Given the description of an element on the screen output the (x, y) to click on. 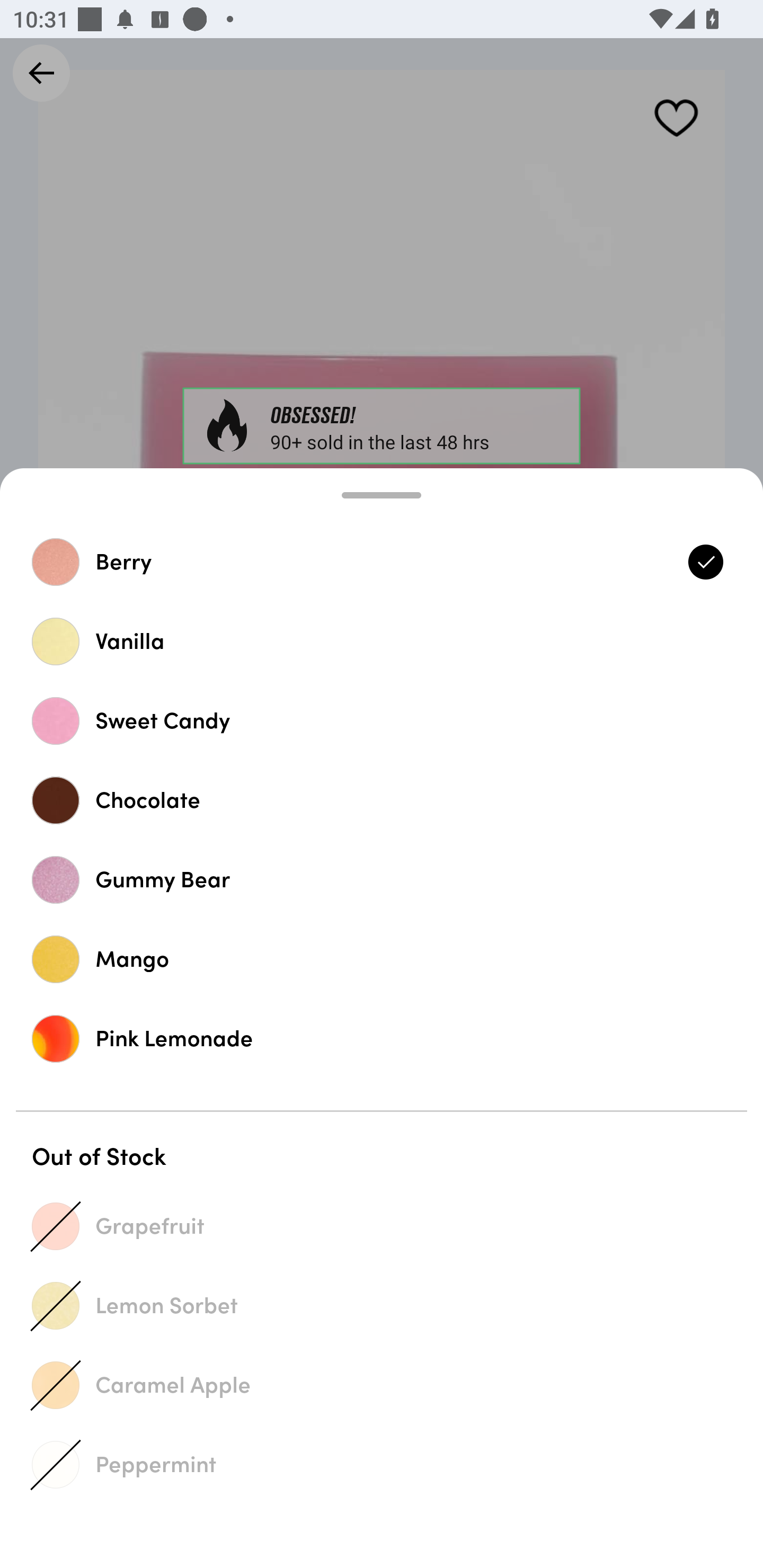
Berry  (381, 562)
Vanilla (381, 641)
Sweet Candy (381, 720)
Chocolate (381, 800)
Gummy Bear (381, 879)
Mango (381, 958)
Pink Lemonade (381, 1038)
Grapefruit (381, 1225)
Lemon Sorbet (381, 1305)
Caramel Apple (381, 1385)
Peppermint (381, 1464)
